Given the description of an element on the screen output the (x, y) to click on. 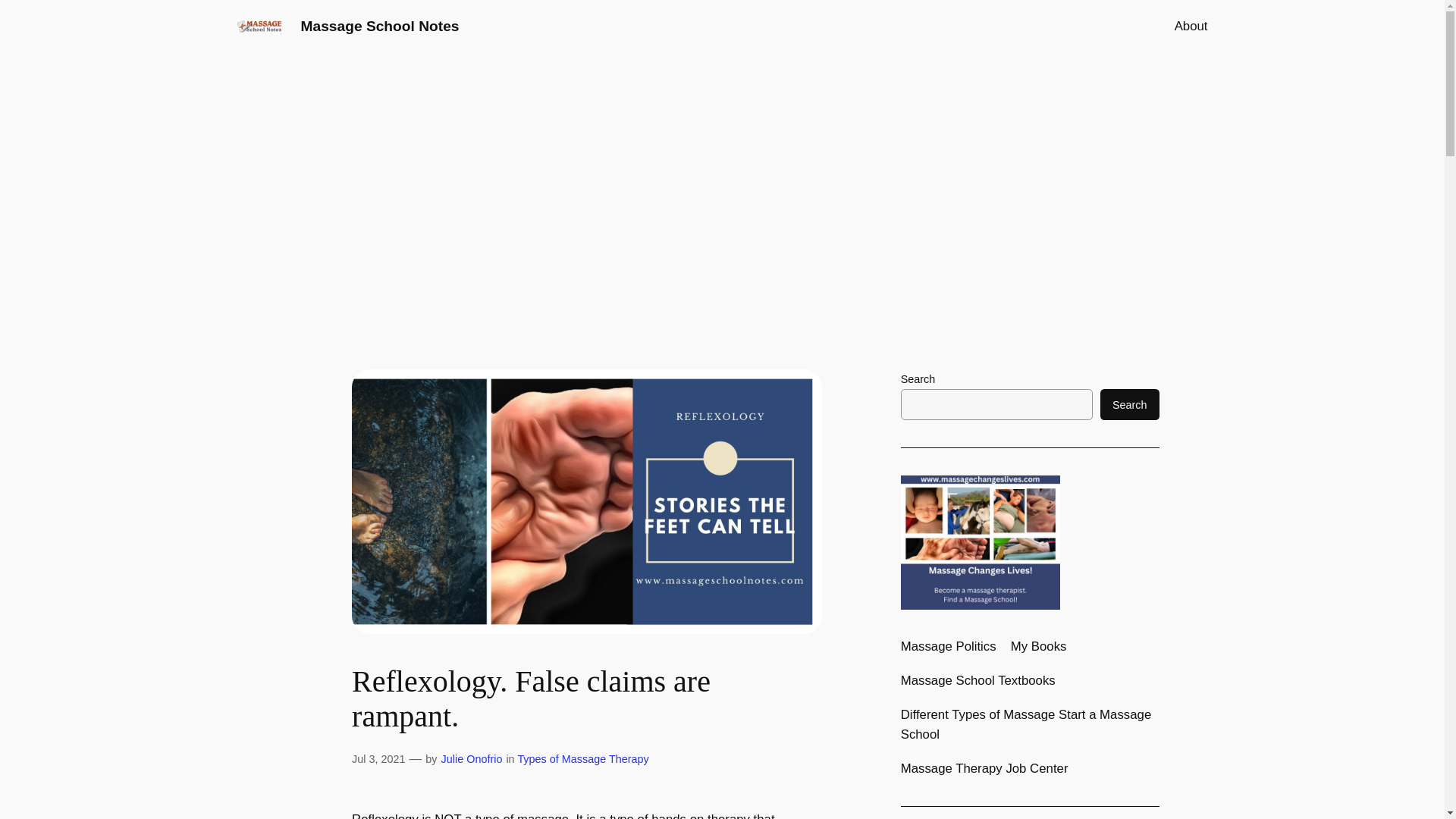
My Books (1038, 646)
Types of Massage Therapy (581, 758)
Search (1129, 404)
Julie Onofrio (471, 758)
Massage School Notes (378, 26)
About (1191, 26)
Massage Politics (948, 646)
Jul 3, 2021 (378, 758)
